Given the description of an element on the screen output the (x, y) to click on. 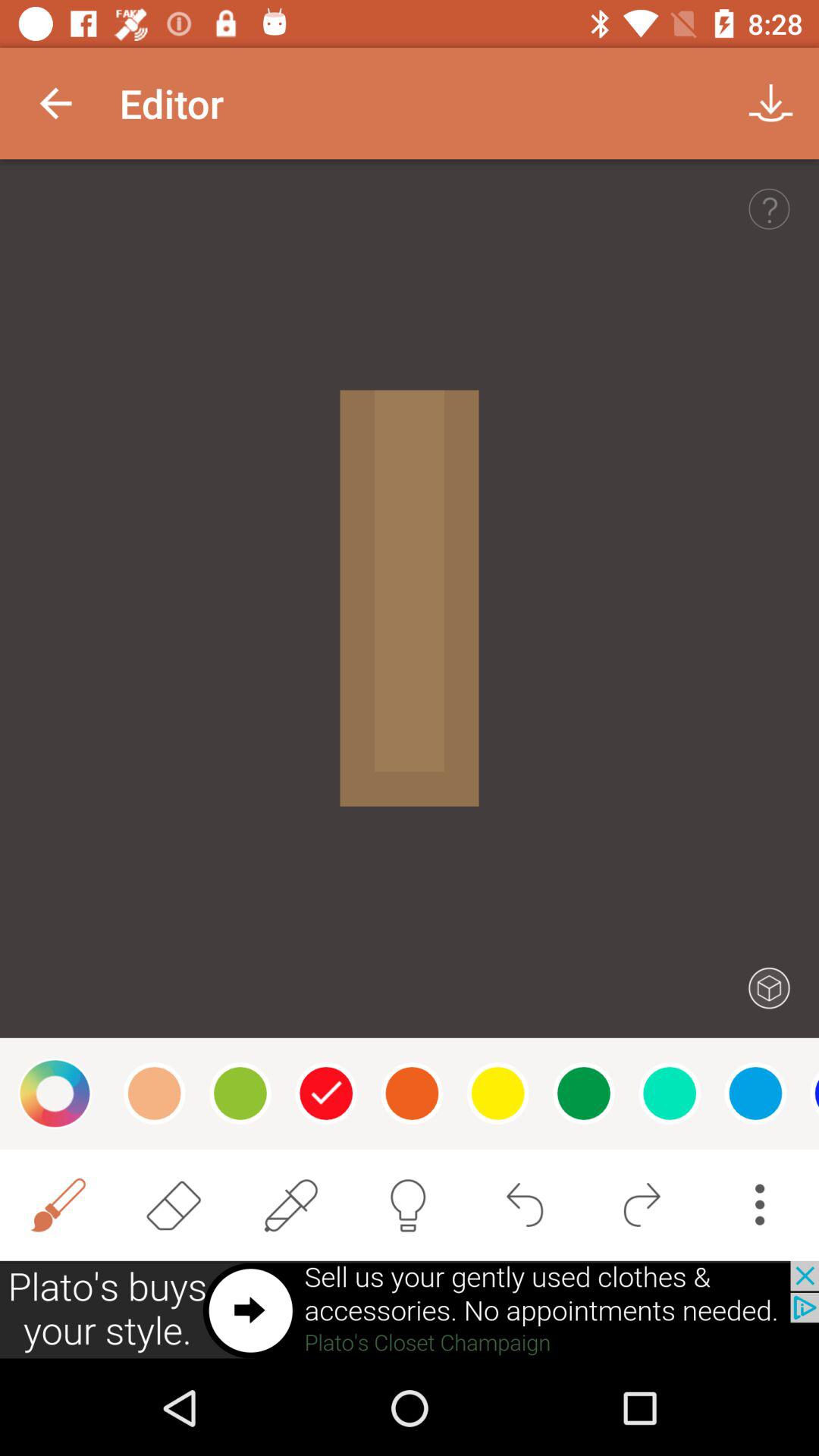
open advertisement (409, 1310)
